Given the description of an element on the screen output the (x, y) to click on. 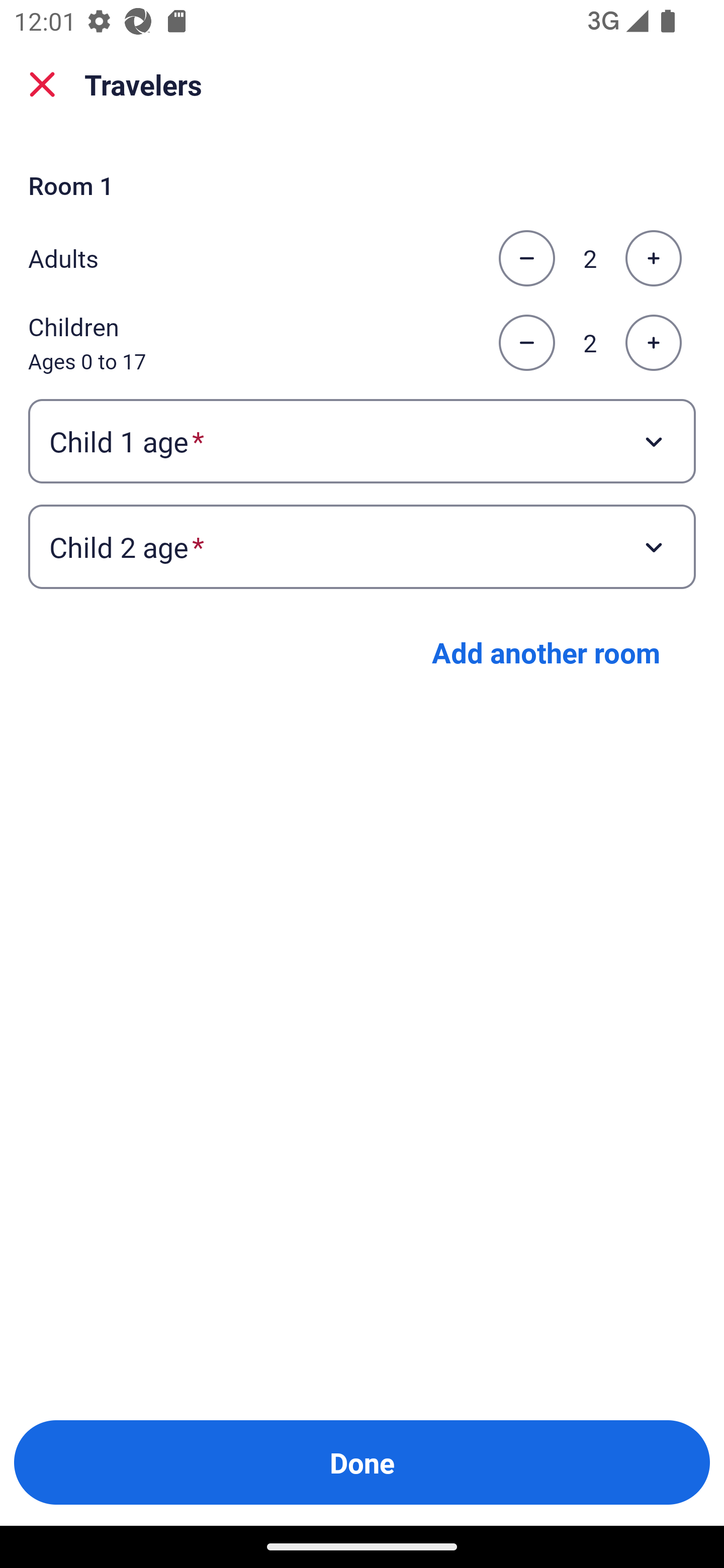
close (42, 84)
Decrease the number of adults (526, 258)
Increase the number of adults (653, 258)
Decrease the number of children (526, 343)
Increase the number of children (653, 343)
Child 1 age required Button (361, 440)
Child 2 age required Button (361, 546)
Add another room (545, 651)
Done (361, 1462)
